Given the description of an element on the screen output the (x, y) to click on. 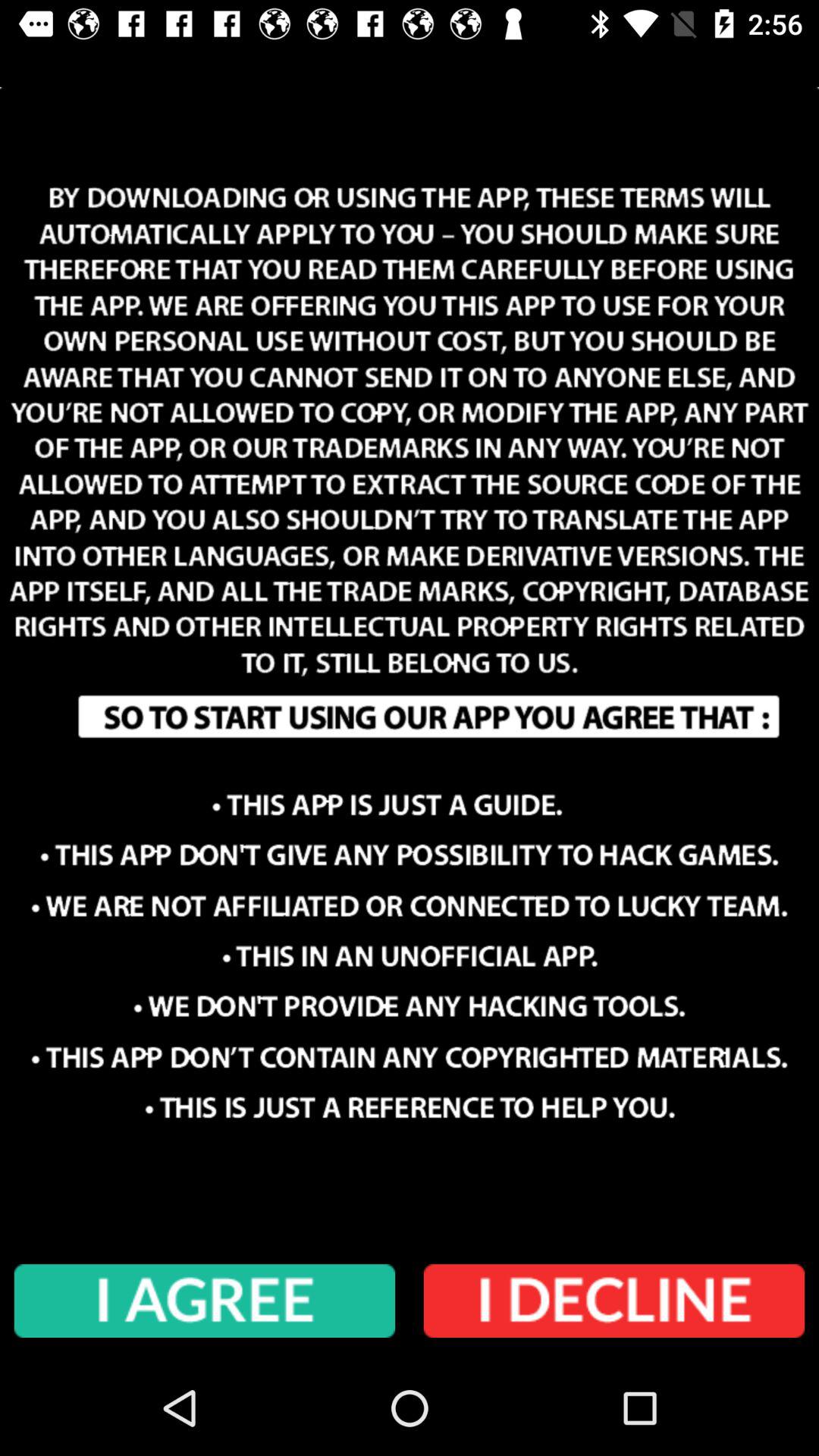
go to previous (614, 1301)
